Given the description of an element on the screen output the (x, y) to click on. 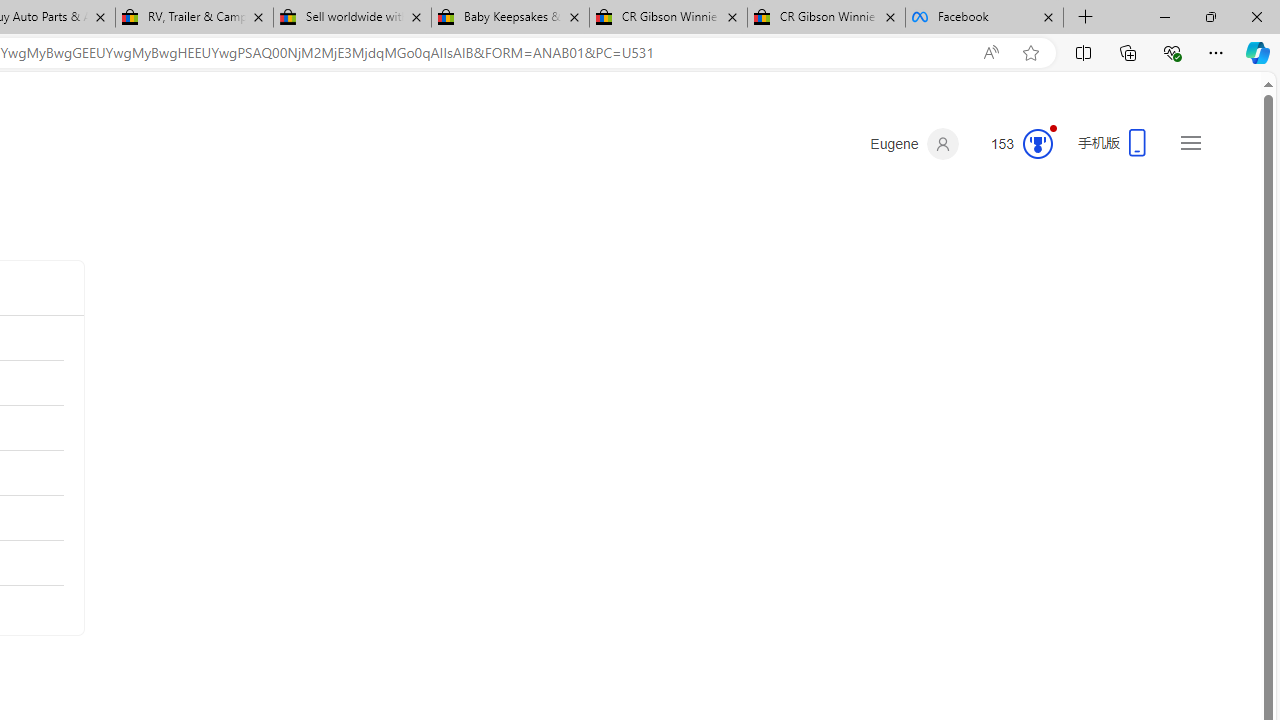
Class: medal-circled (1037, 143)
Add this page to favorites (Ctrl+D) (1030, 53)
Collections (1128, 52)
New Tab (1085, 17)
Sell worldwide with eBay (352, 17)
Copilot (Ctrl+Shift+.) (1258, 52)
Settings and quick links (1190, 142)
